Given the description of an element on the screen output the (x, y) to click on. 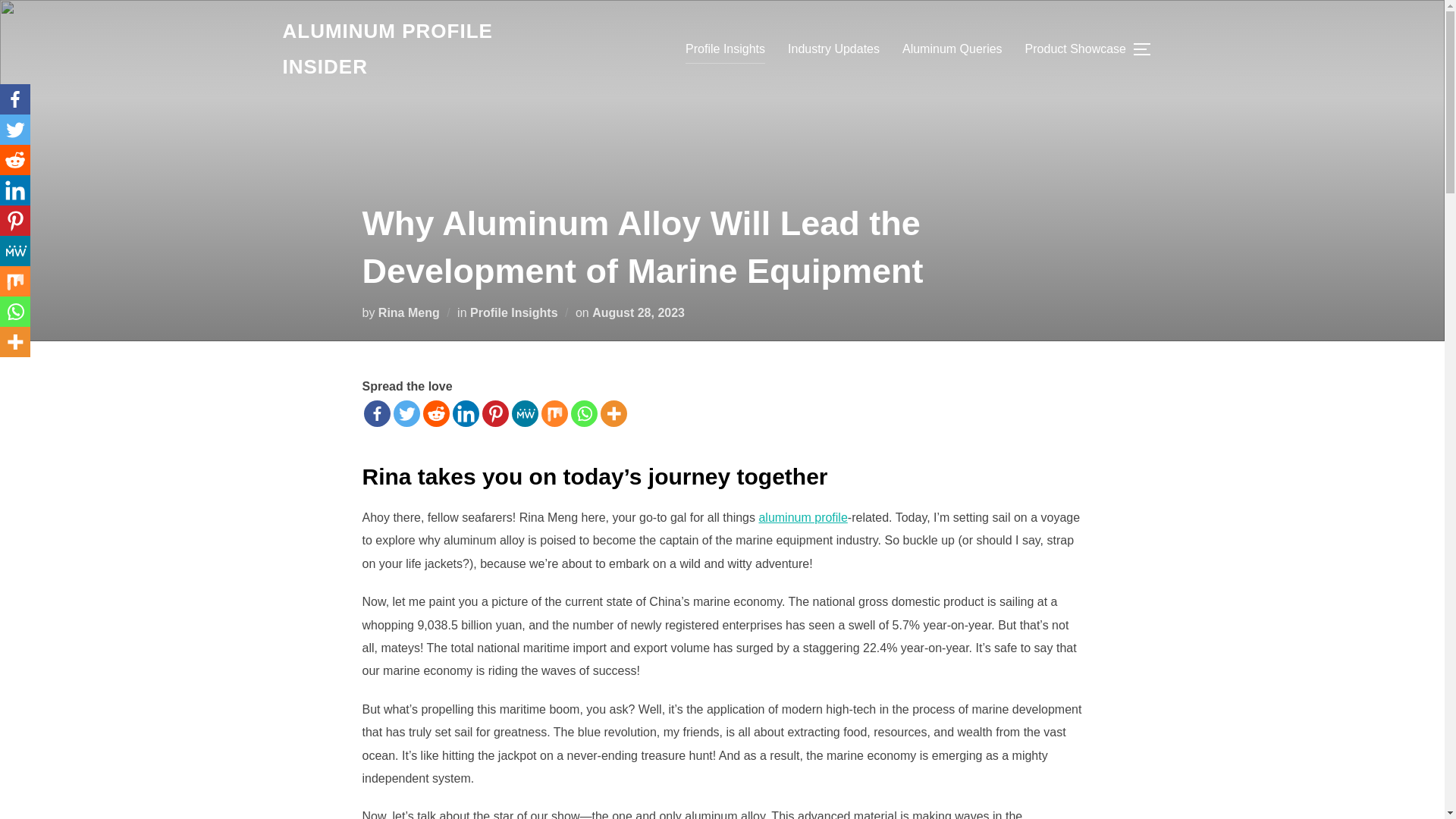
Facebook (377, 413)
Reddit (436, 413)
Rina Meng (408, 312)
Mix (554, 413)
Twitter (15, 129)
Twitter (406, 413)
Linkedin (465, 413)
ALUMINUM PROFILE INSIDER (414, 49)
Product Showcase (1075, 49)
Industry Updates (833, 49)
MeWe (524, 413)
August 28, 2023 (638, 312)
Pinterest (494, 413)
Delving Deep into the World of Aluminum Profiles (414, 49)
Profile Insights (513, 312)
